Given the description of an element on the screen output the (x, y) to click on. 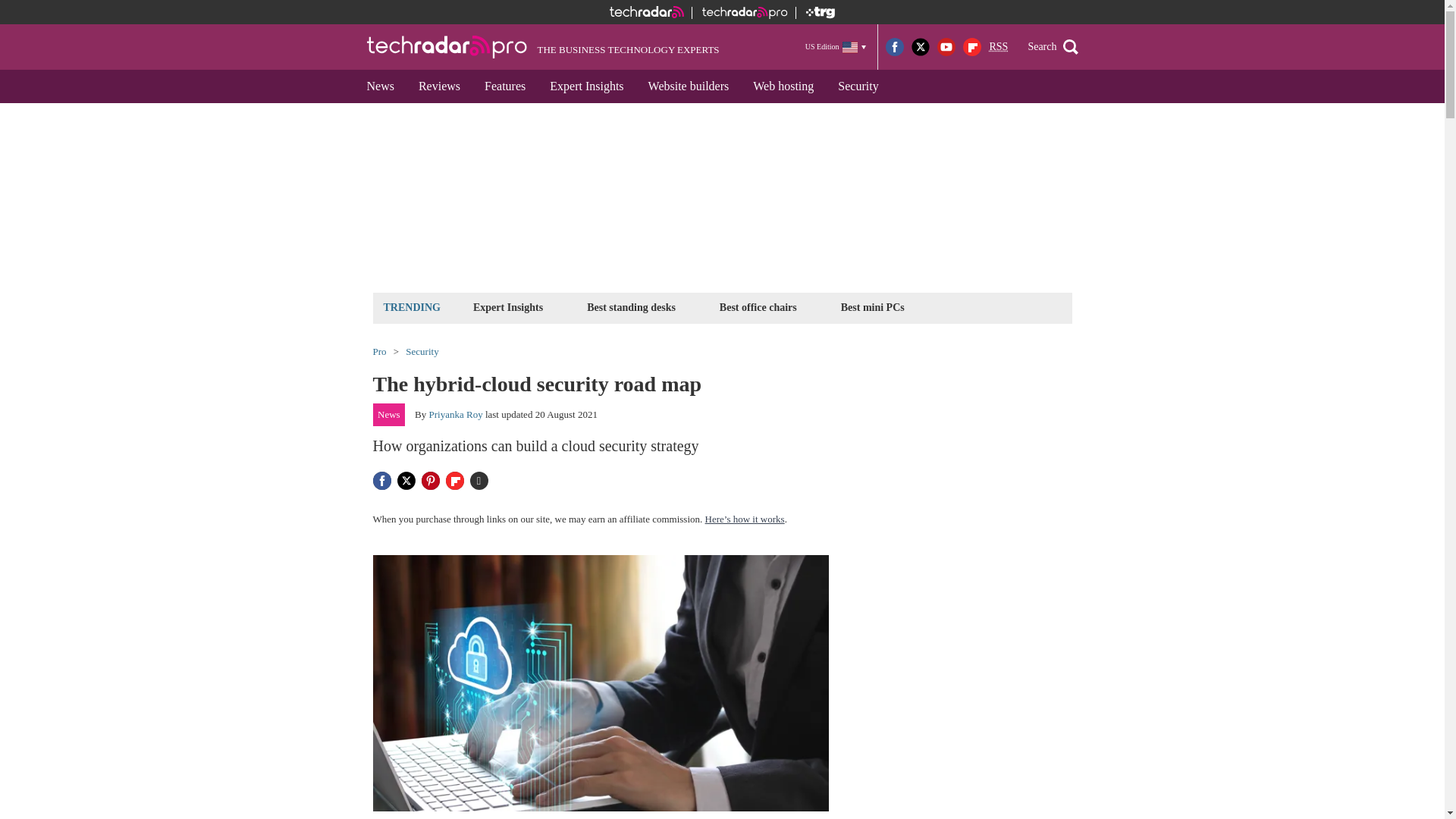
Reviews (438, 86)
Best office chairs (758, 307)
Security (857, 86)
Best standing desks (630, 307)
Features (504, 86)
RSS (997, 46)
US Edition (836, 46)
THE BUSINESS TECHNOLOGY EXPERTS (542, 46)
Expert Insights (585, 86)
News (380, 86)
Web hosting (783, 86)
Website builders (688, 86)
Expert Insights (507, 307)
Really Simple Syndication (997, 46)
